Given the description of an element on the screen output the (x, y) to click on. 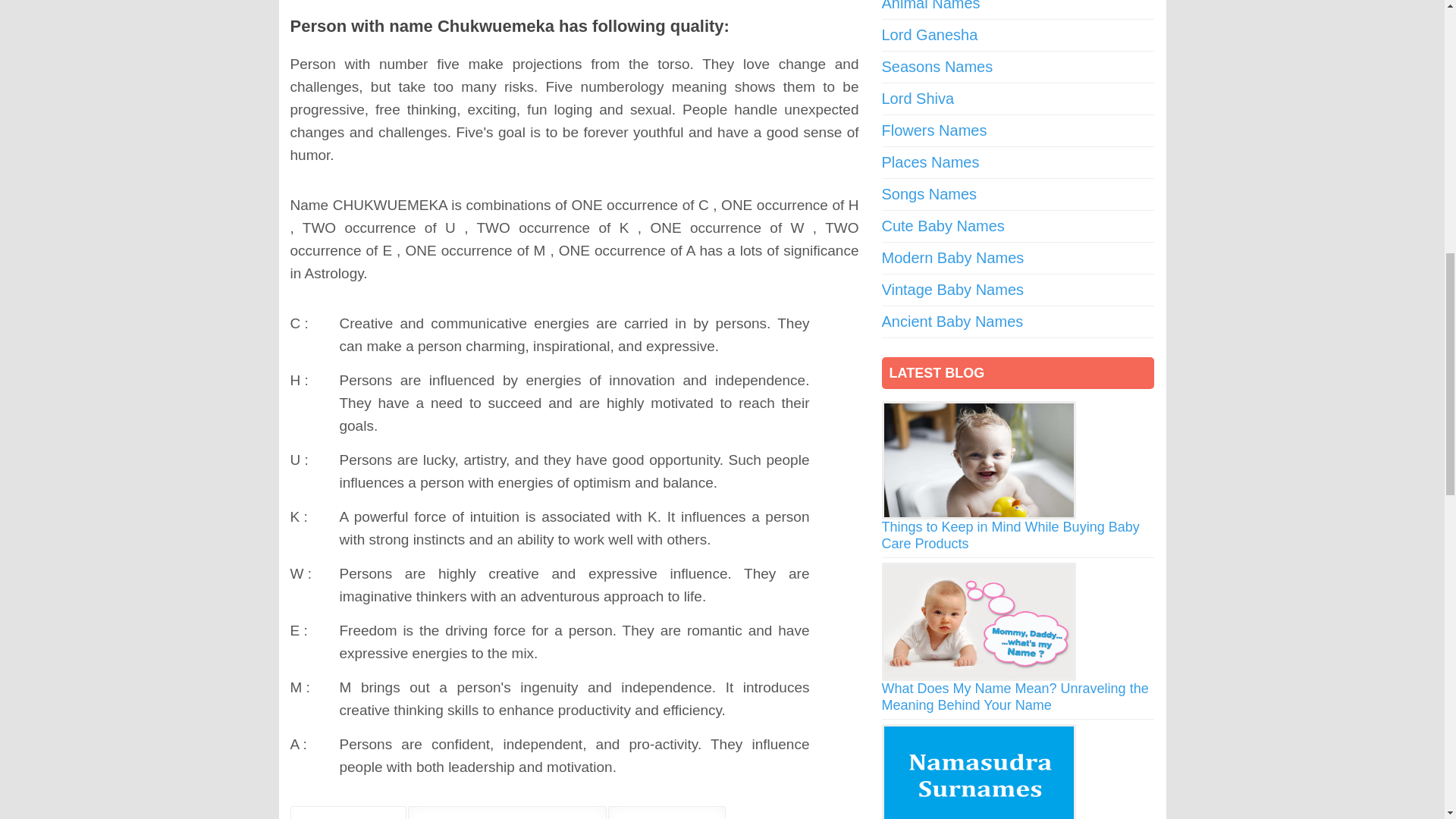
Names with Same Meaning (507, 812)
Variant Names (666, 812)
Similar Names (347, 812)
